Given the description of an element on the screen output the (x, y) to click on. 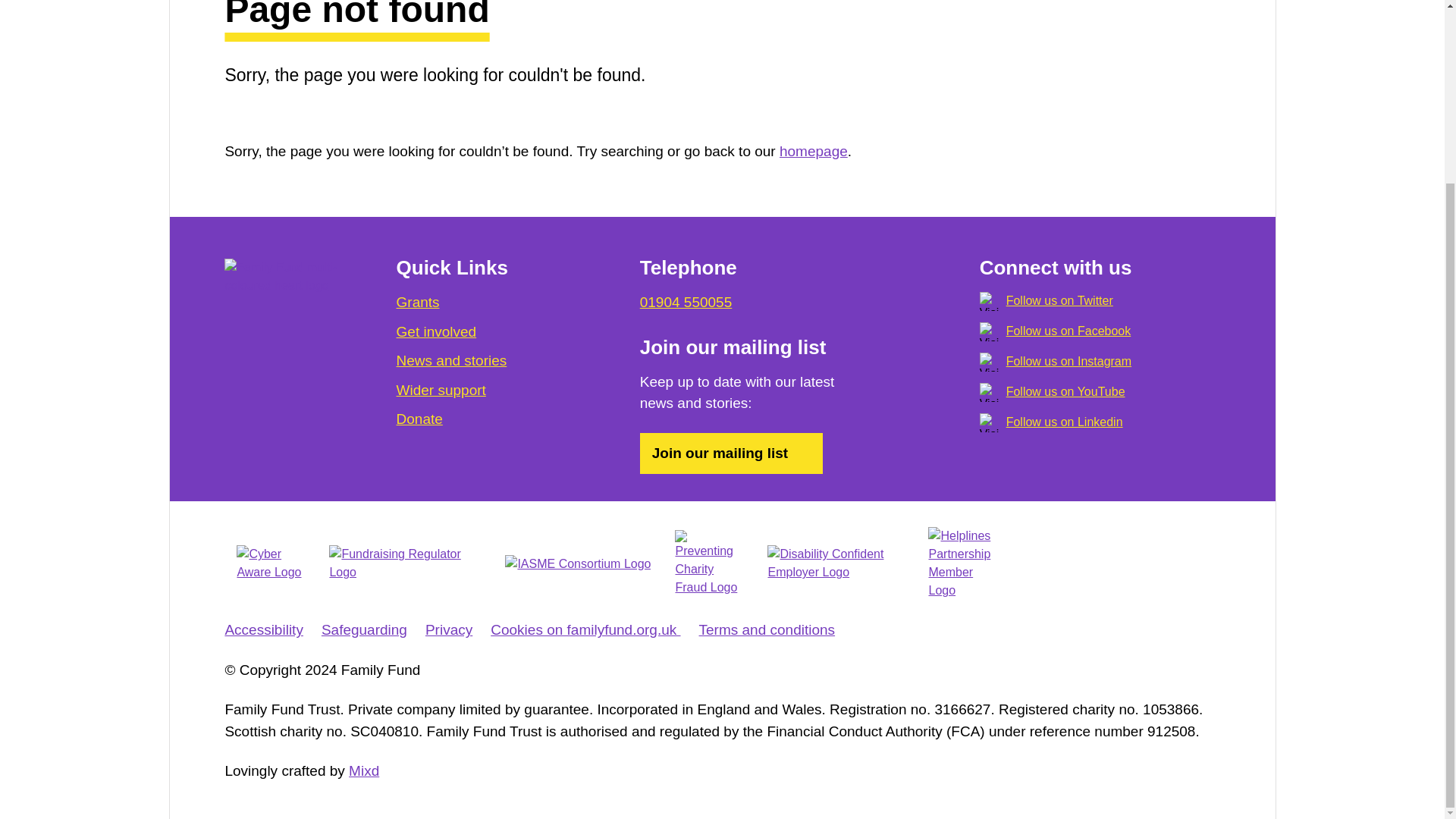
Family Fund Homepage (285, 276)
